Given the description of an element on the screen output the (x, y) to click on. 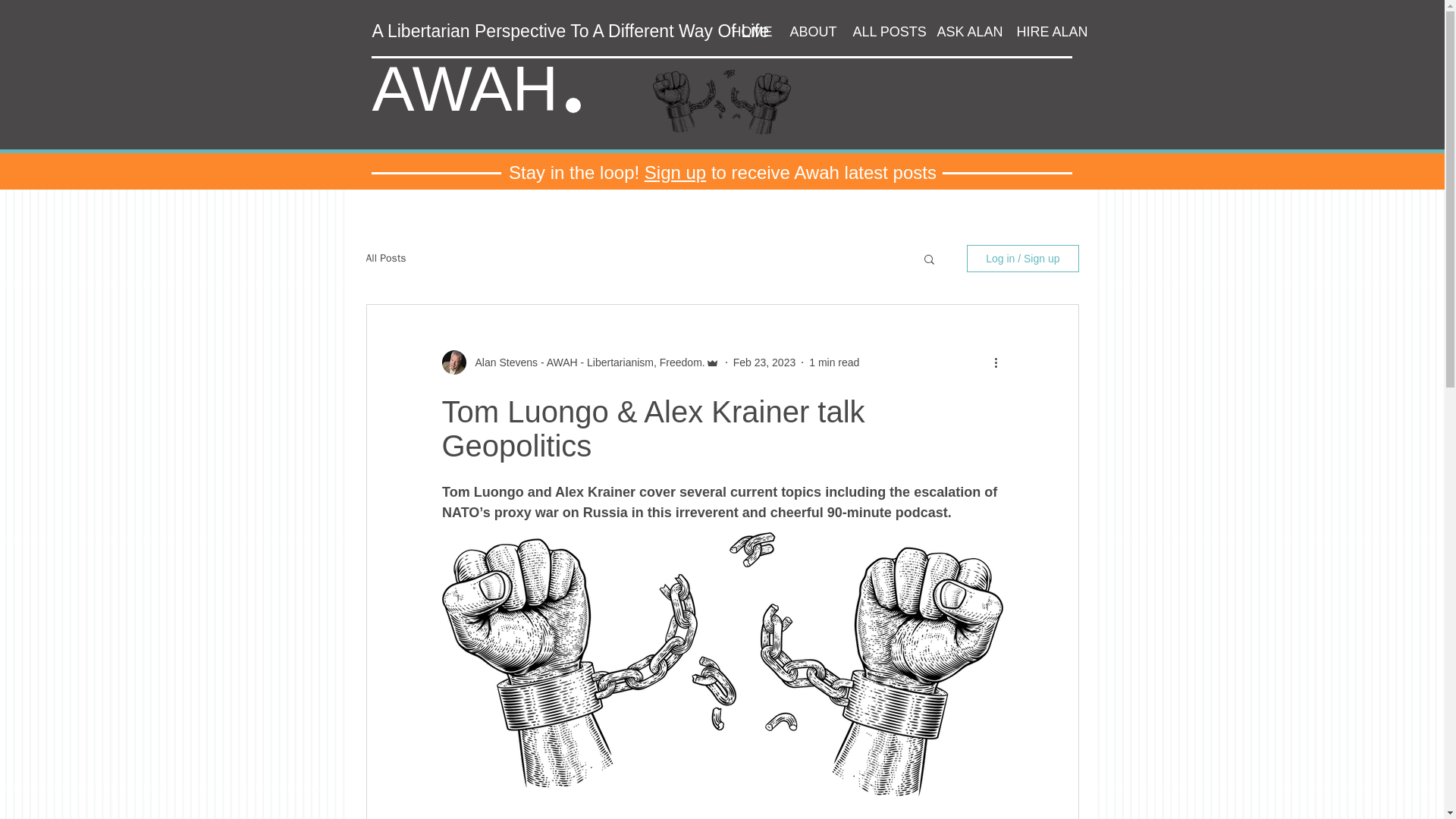
Alan Stevens - AWAH - Libertarianism, Freedom. (584, 362)
ASK ALAN (964, 31)
ABOUT (809, 31)
Feb 23, 2023 (764, 362)
1 min read (834, 362)
Sign up (675, 172)
AWAH (464, 88)
HOME (749, 31)
HIRE ALAN (1046, 31)
ALL POSTS (883, 31)
